Given the description of an element on the screen output the (x, y) to click on. 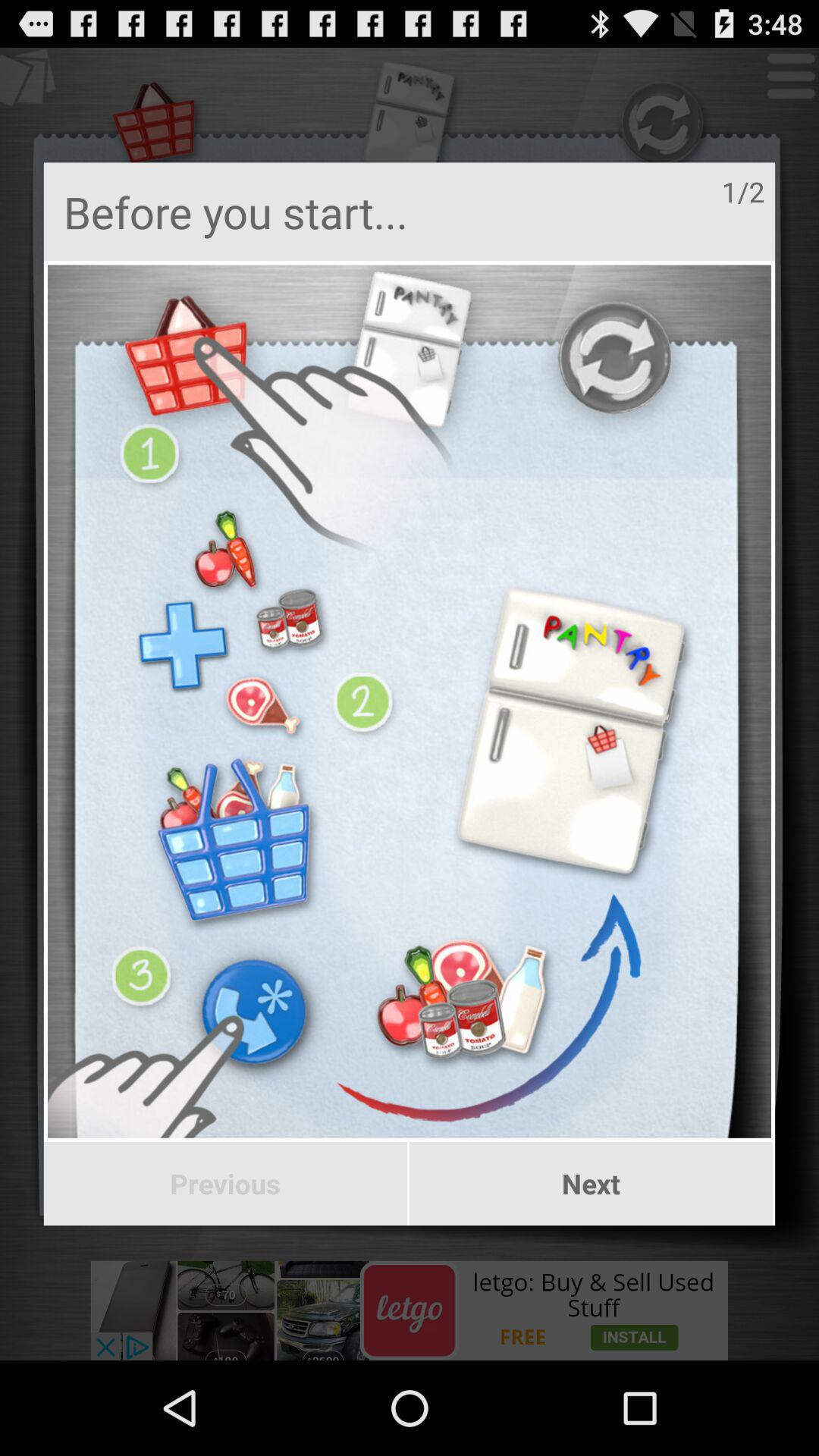
click item at the bottom left corner (225, 1183)
